Given the description of an element on the screen output the (x, y) to click on. 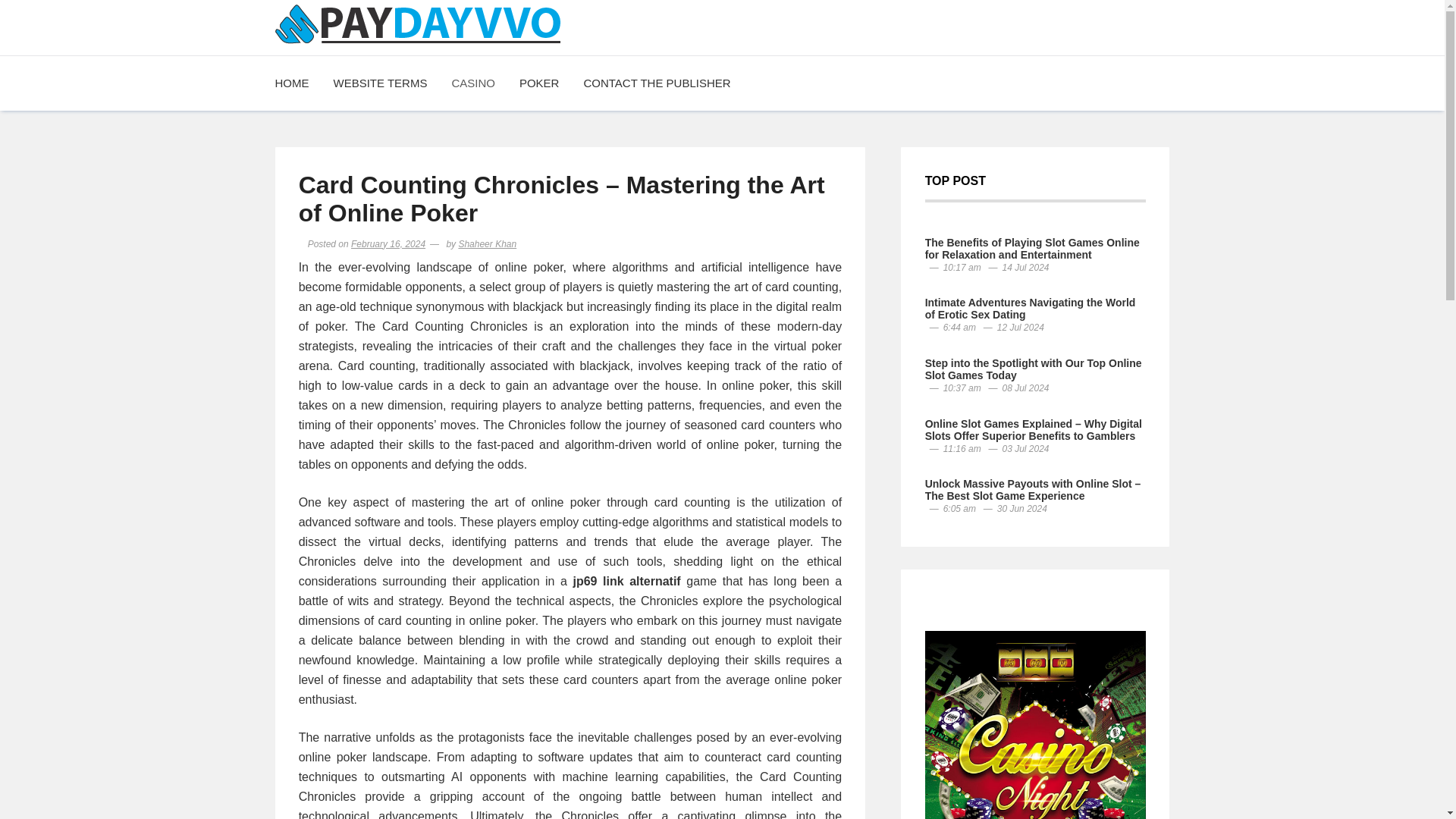
jp69 link alternatif (625, 581)
February 16, 2024 (387, 244)
CASINO (472, 83)
CONTACT THE PUBLISHER (656, 83)
Step into the Spotlight with Our Top Online Slot Games Today (1032, 369)
Shaheer Khan (487, 244)
HOME (297, 83)
POKER (539, 83)
WEBSITE TERMS (380, 83)
